Given the description of an element on the screen output the (x, y) to click on. 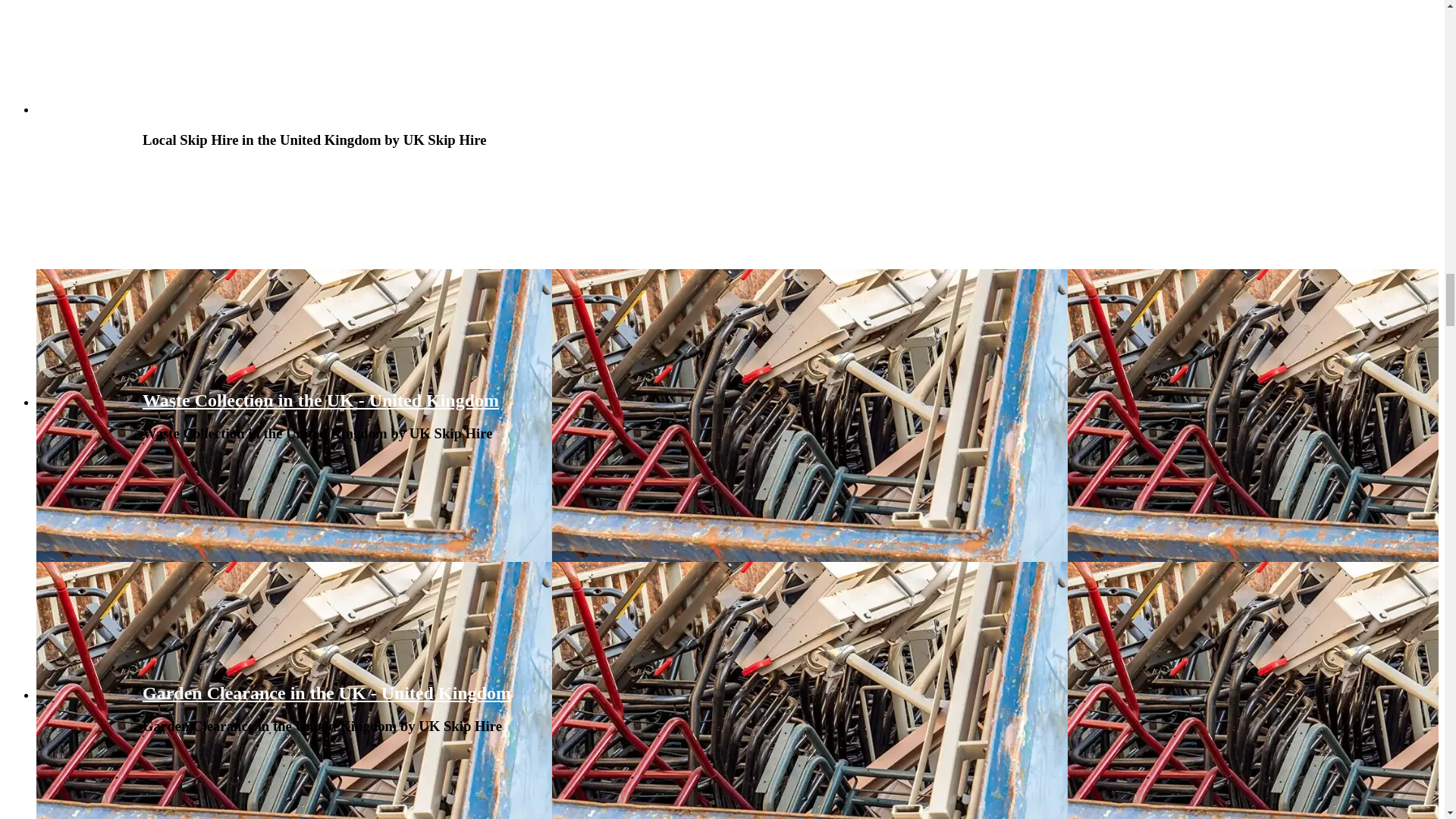
Waste Collection in the UK - United Kingdom (320, 400)
Garden Clearance in the UK - United Kingdom (326, 692)
Local Skip Hire in the UK - United Kingdom (317, 107)
